Given the description of an element on the screen output the (x, y) to click on. 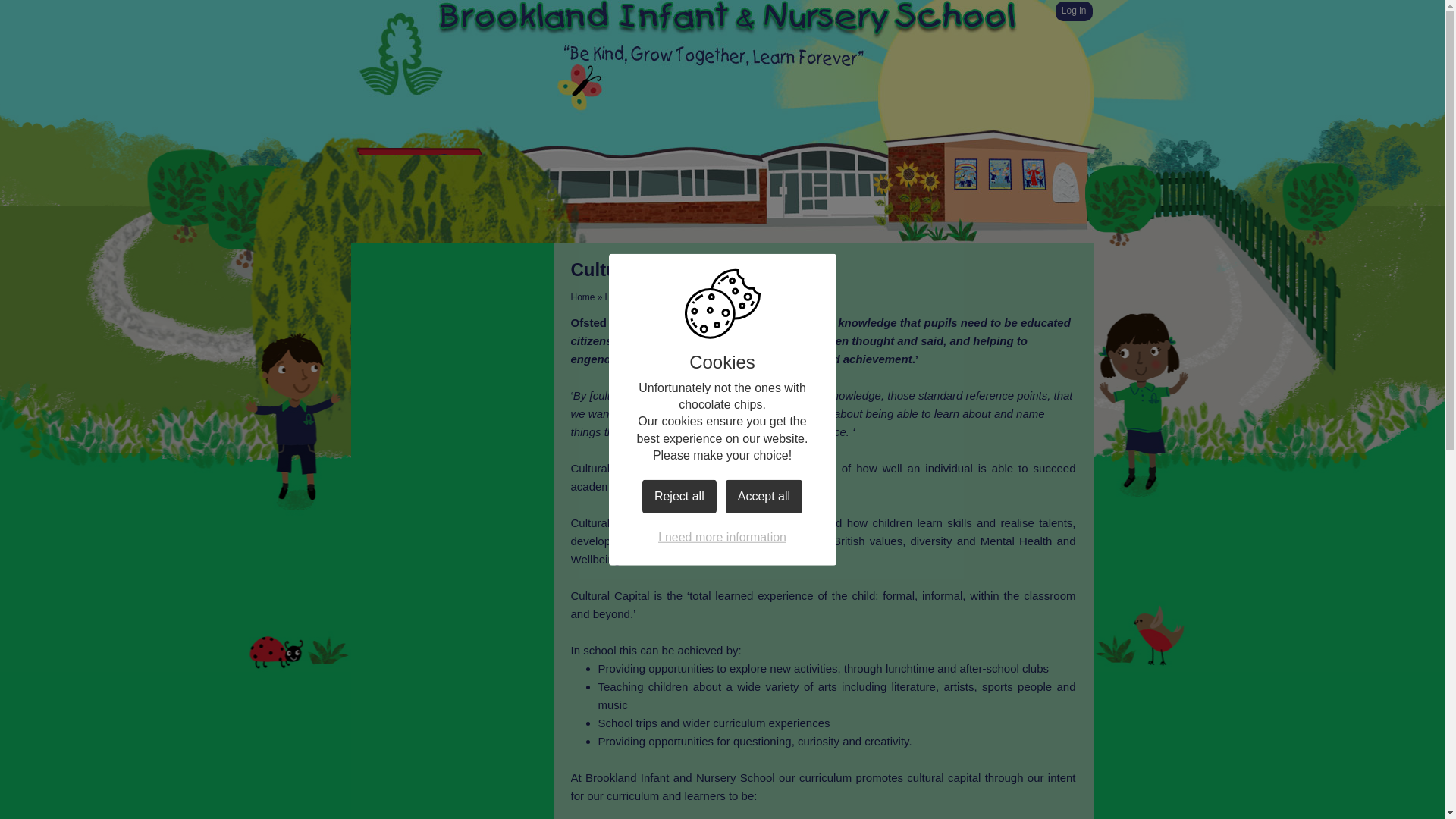
Key Information (423, 235)
Home (423, 162)
Personal Development (695, 296)
Learning (622, 296)
Home (582, 296)
Home Page (400, 53)
About Us (423, 198)
Home Page (400, 53)
Log in (1074, 11)
Cultural Capital (782, 296)
